Given the description of an element on the screen output the (x, y) to click on. 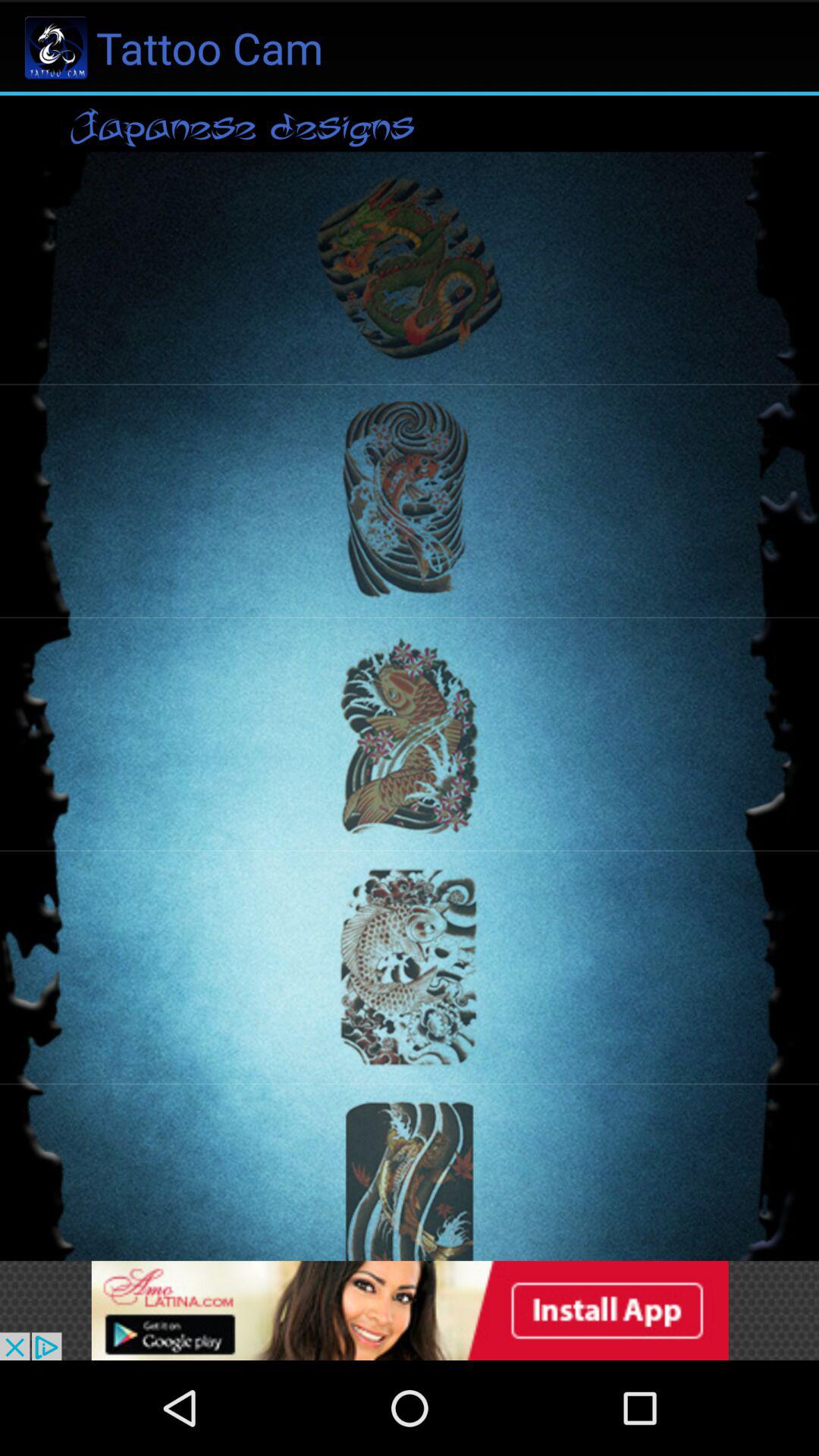
new tattoo designs without any pain in a singly touch (409, 1310)
